Given the description of an element on the screen output the (x, y) to click on. 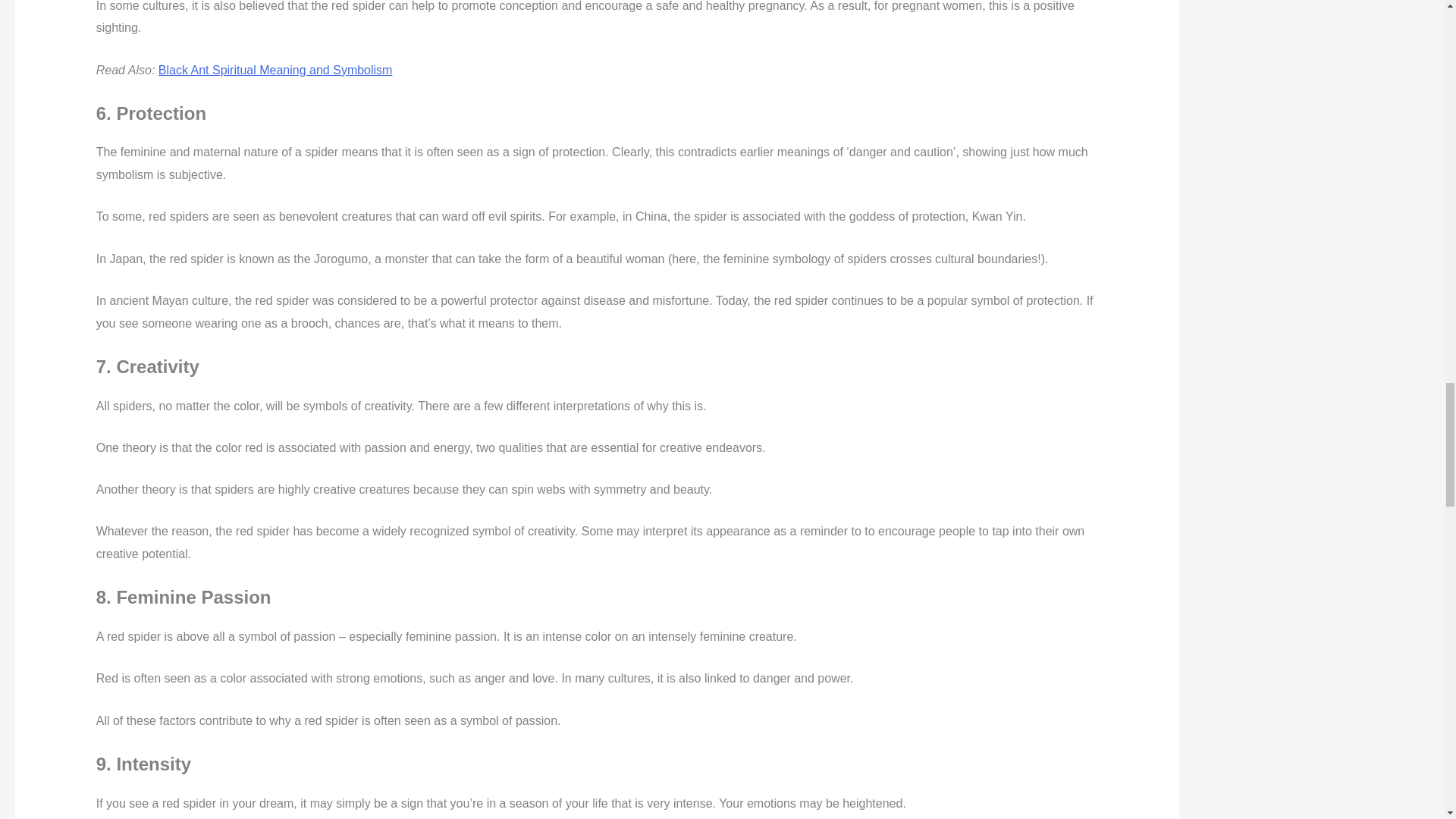
Black Ant Spiritual Meaning and Symbolism (275, 69)
